Given the description of an element on the screen output the (x, y) to click on. 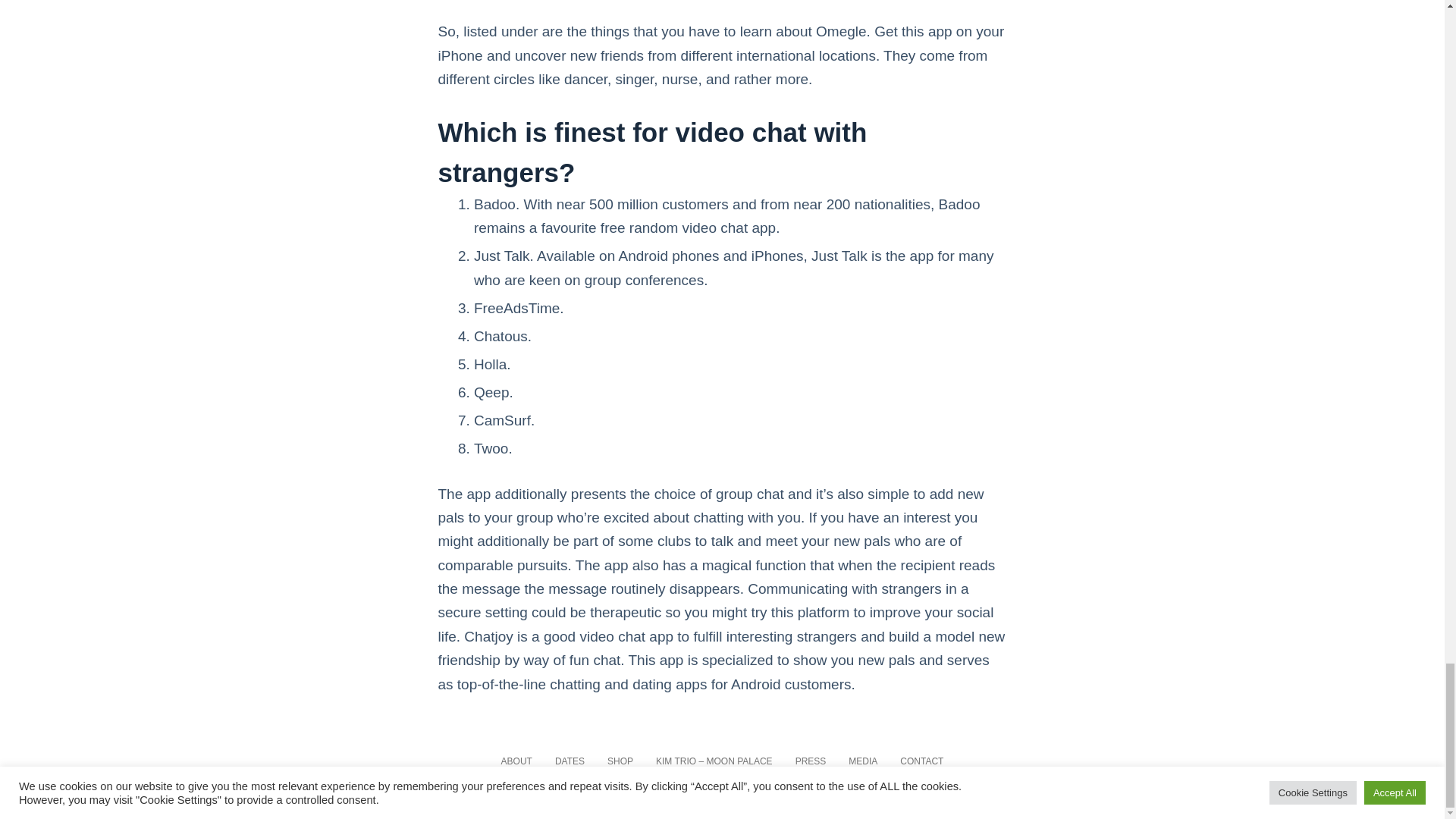
MEDIA (862, 761)
PRESS (811, 761)
SHOP (620, 761)
DATES (569, 761)
ABOUT (516, 761)
